Given the description of an element on the screen output the (x, y) to click on. 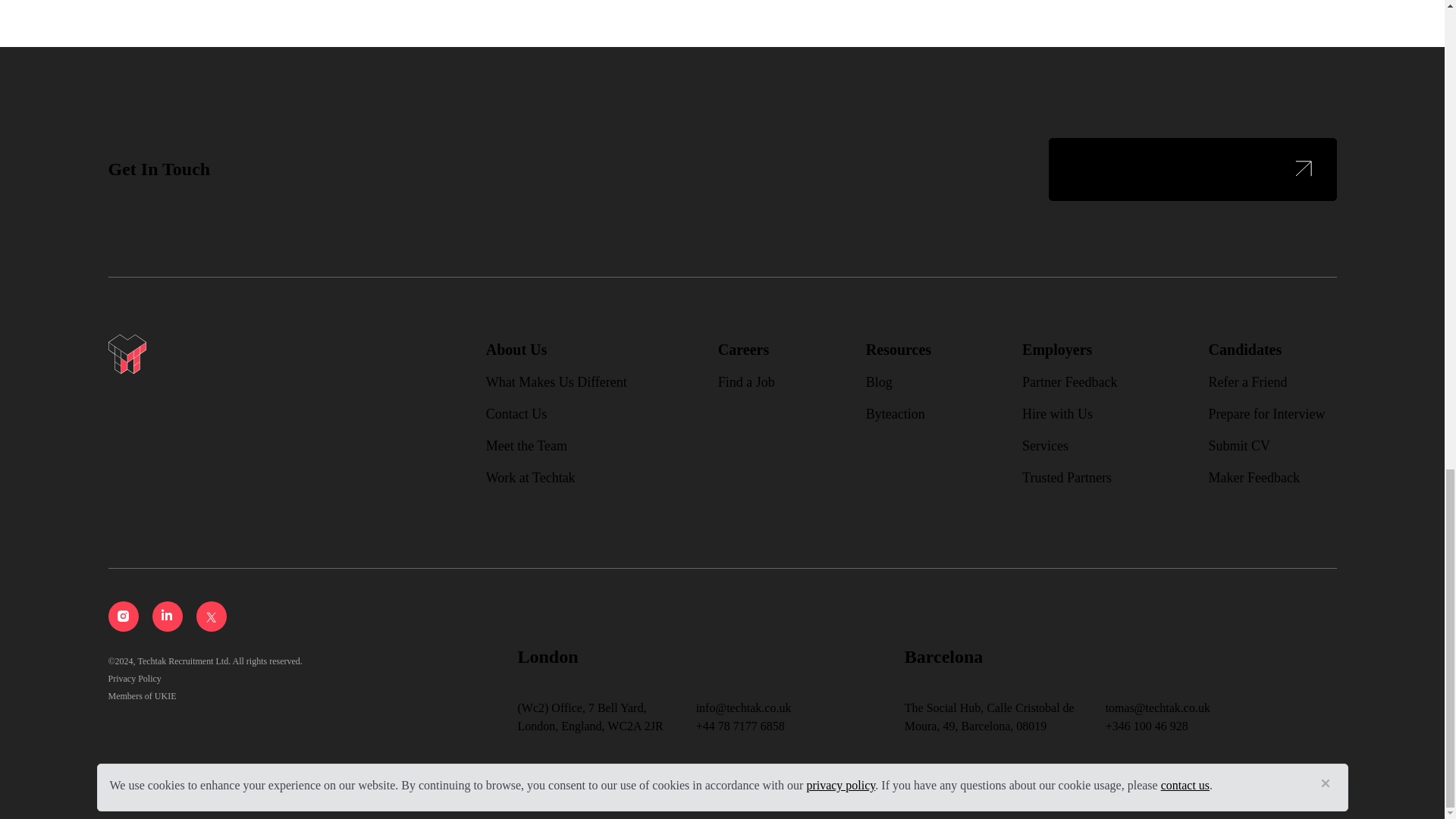
About Us (516, 349)
Work at Techtak (530, 477)
Meet the Team (526, 445)
What Makes Us Different (556, 382)
Contact Us (516, 414)
